Given the description of an element on the screen output the (x, y) to click on. 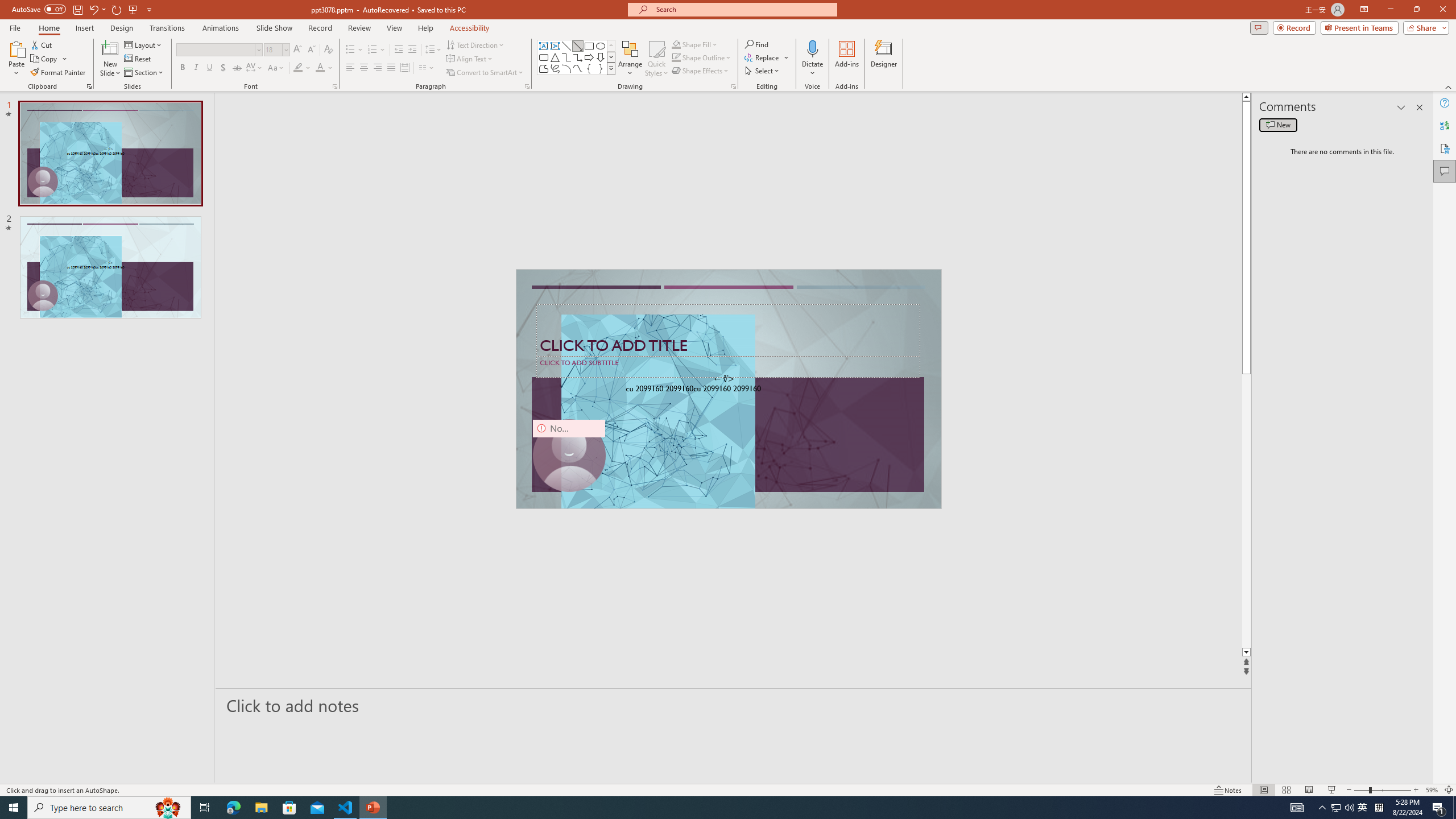
Subtitle TextBox (727, 366)
Shape Fill Dark Green, Accent 2 (675, 44)
